Given the description of an element on the screen output the (x, y) to click on. 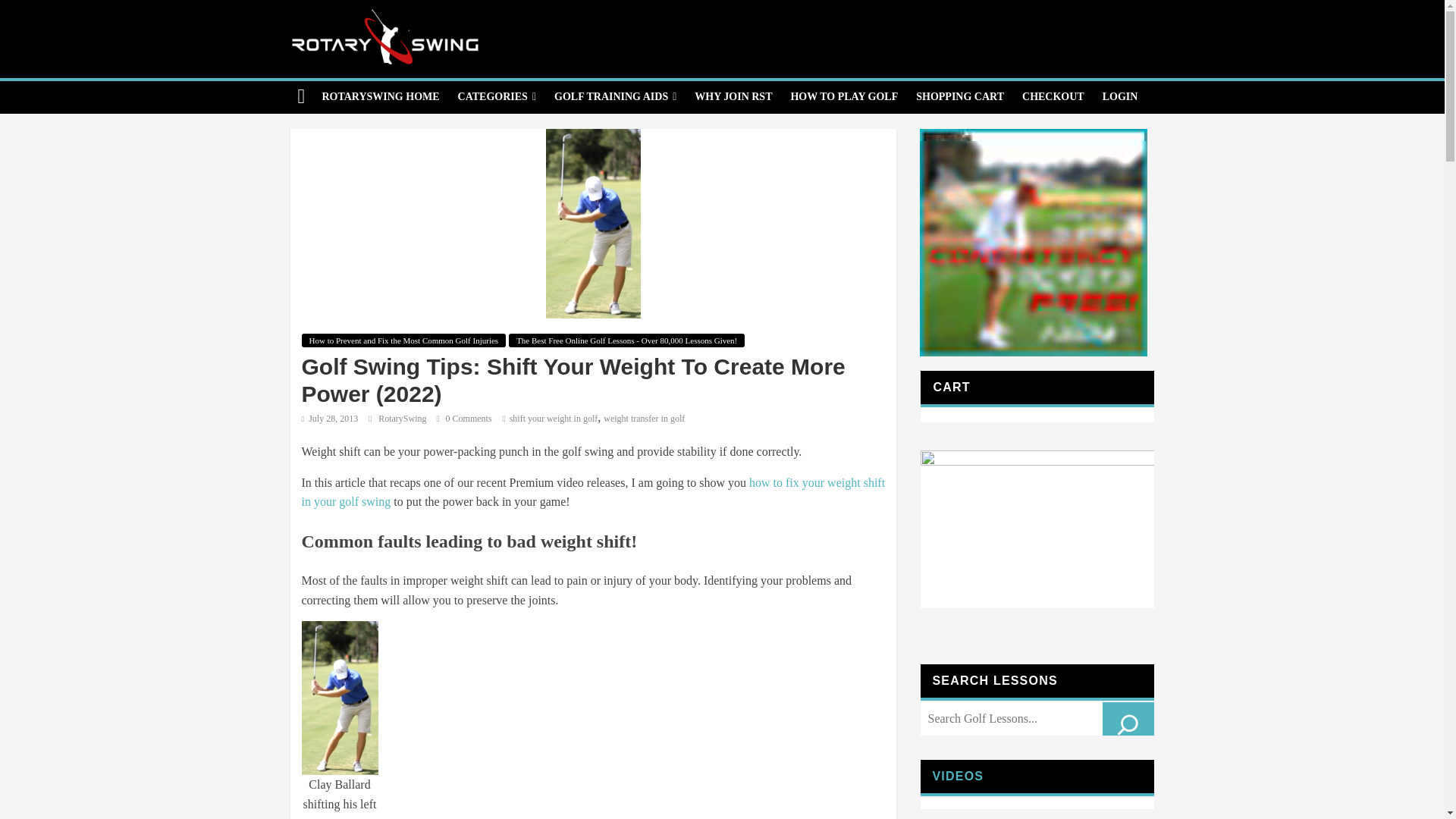
CHECKOUT (1053, 97)
GOLF TRAINING AIDS (614, 97)
how to play golf learn online (843, 97)
RotarySwing (403, 418)
shift your weight in golf (553, 418)
weight transfer in golf (644, 418)
how to fix your weight shift in your golf swing (593, 491)
How to Prevent and Fix the Most Common Golf Injuries (403, 340)
CATEGORIES (496, 97)
RotarySwing (403, 418)
